Given the description of an element on the screen output the (x, y) to click on. 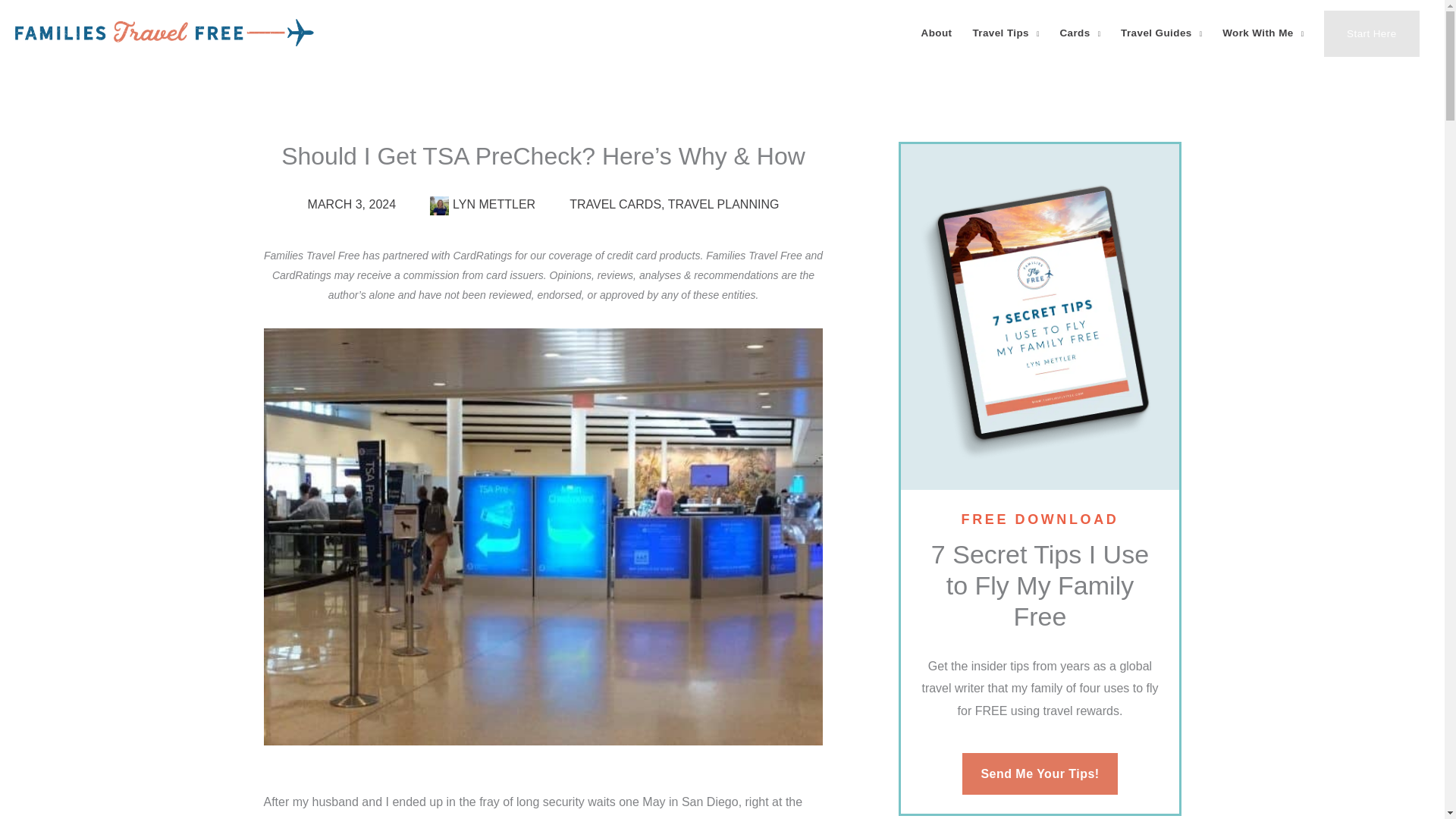
Cards (1079, 33)
MARCH 3, 2024 (351, 204)
TRAVEL CARDS (615, 204)
Start Here (1370, 33)
TRAVEL PLANNING (723, 204)
LYN METTLER (482, 204)
About (936, 33)
Travel Guides (1161, 33)
Travel Tips (1005, 33)
Work With Me (1263, 33)
